Given the description of an element on the screen output the (x, y) to click on. 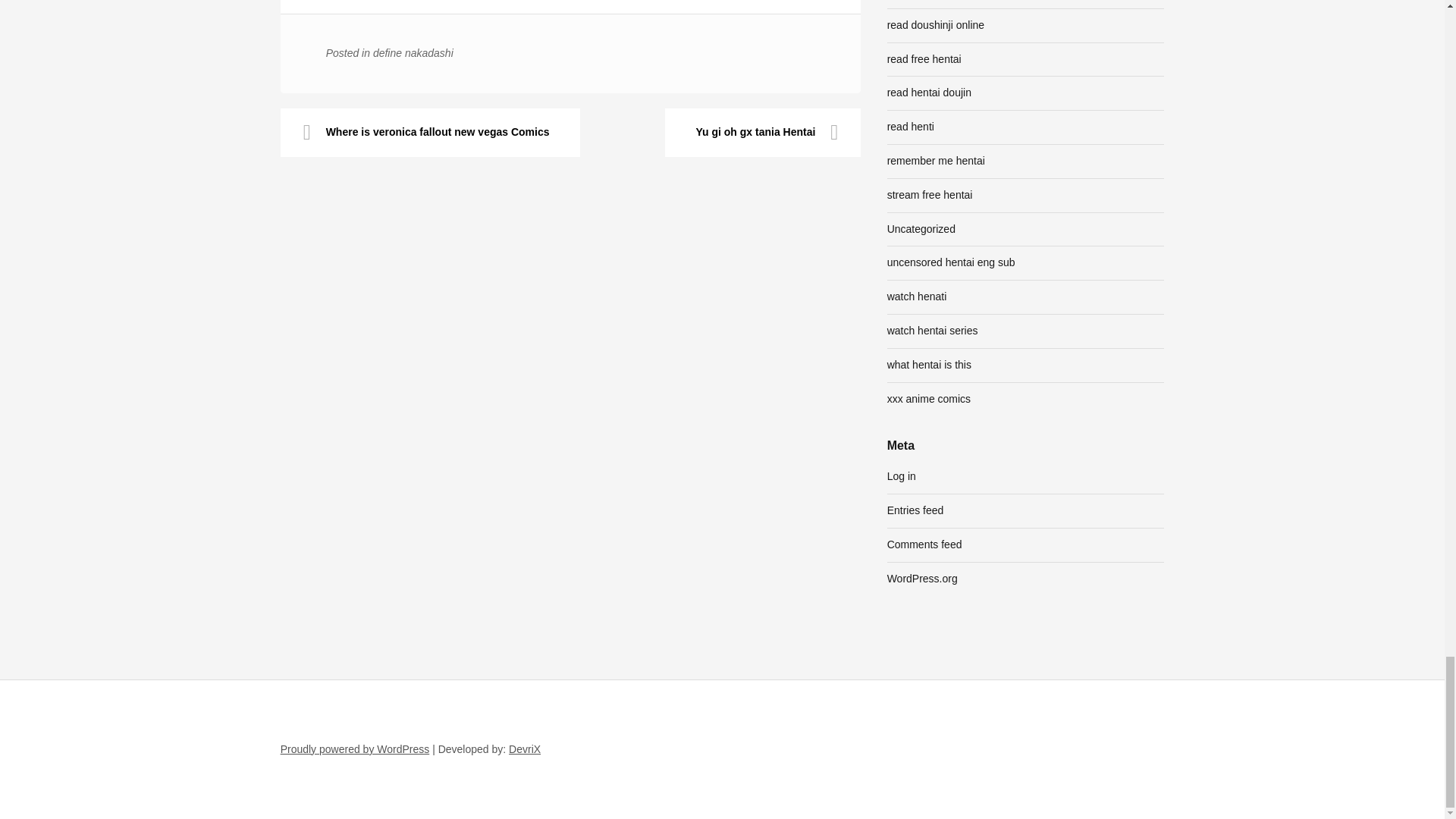
define nakadashi (412, 52)
Yu gi oh gx tania Hentai (762, 132)
Where is veronica fallout new vegas Comics (430, 132)
